Given the description of an element on the screen output the (x, y) to click on. 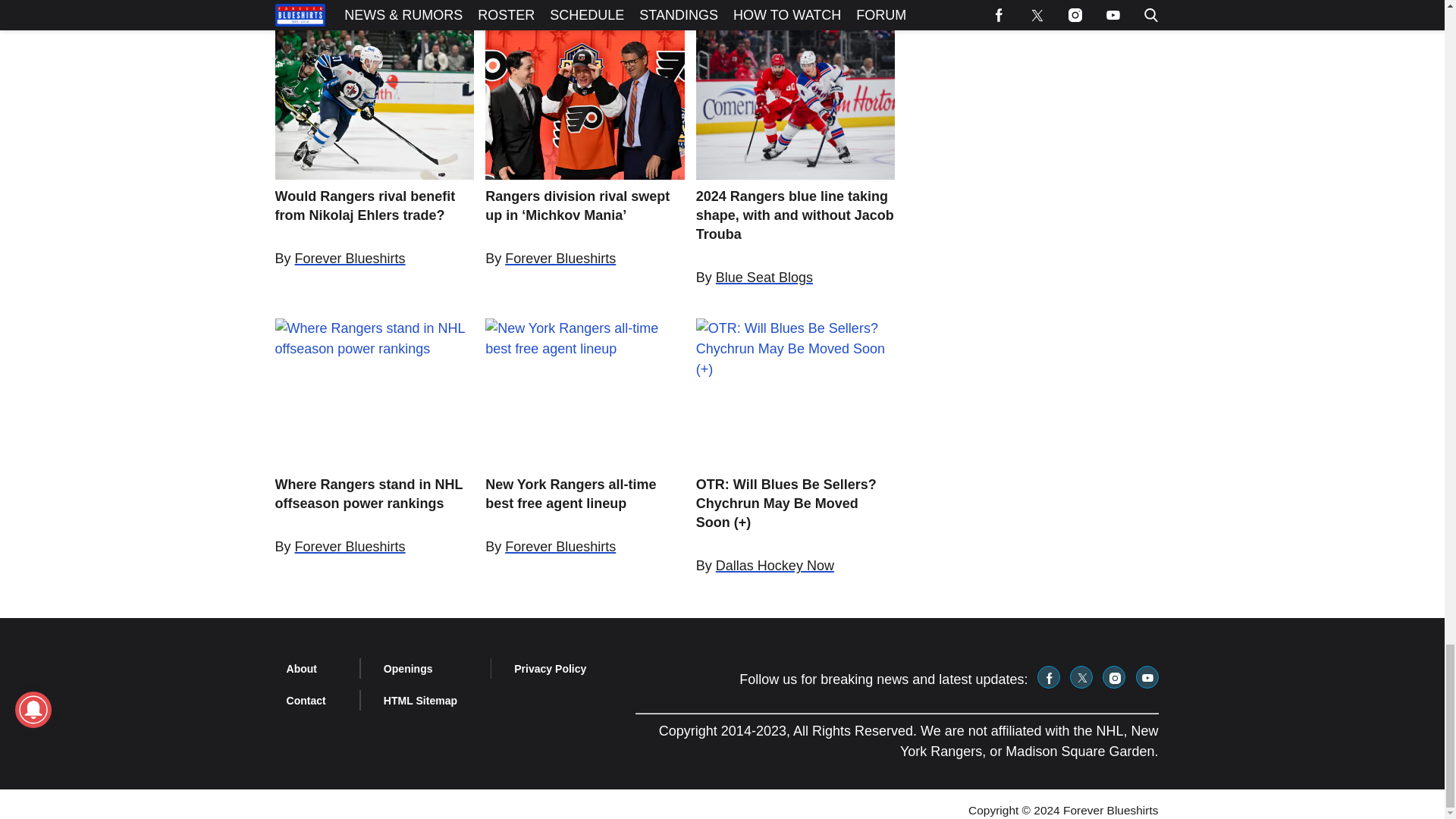
Forever Blueshirts (560, 258)
Blue Seat Blogs (764, 277)
Forever Blueshirts (350, 546)
Would Rangers rival benefit from Nikolaj Ehlers trade? (374, 206)
Forever Blueshirts (350, 258)
Where Rangers stand in NHL offseason power rankings (374, 494)
